Given the description of an element on the screen output the (x, y) to click on. 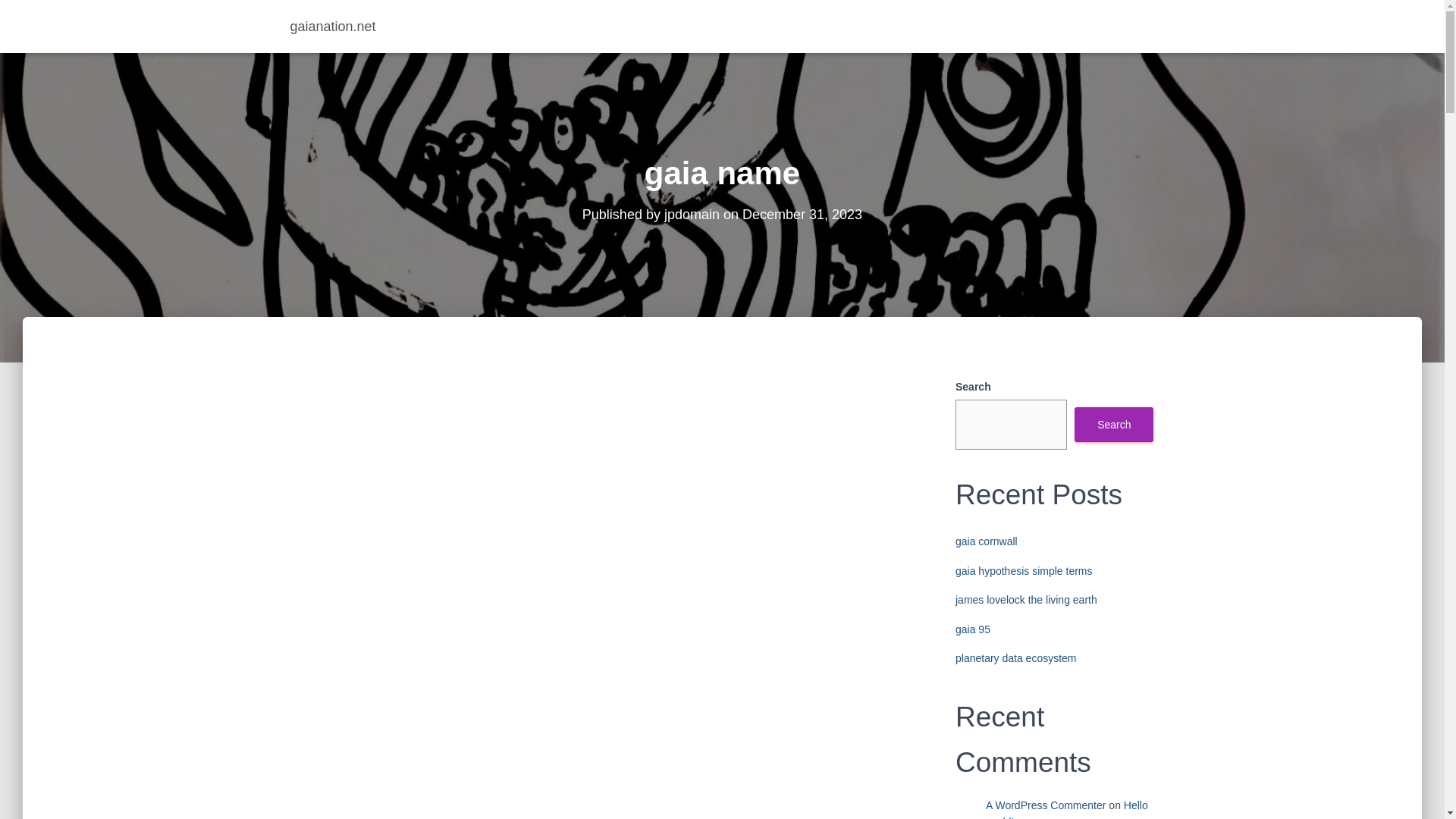
planetary data ecosystem (1016, 657)
Hello world! (1066, 809)
gaia hypothesis simple terms (1024, 571)
A WordPress Commenter (1045, 805)
james lovelock the living earth (1026, 599)
gaia cornwall (986, 541)
gaianation.net (333, 26)
jpdomain (691, 214)
Search (1113, 425)
gaia 95 (972, 629)
